Given the description of an element on the screen output the (x, y) to click on. 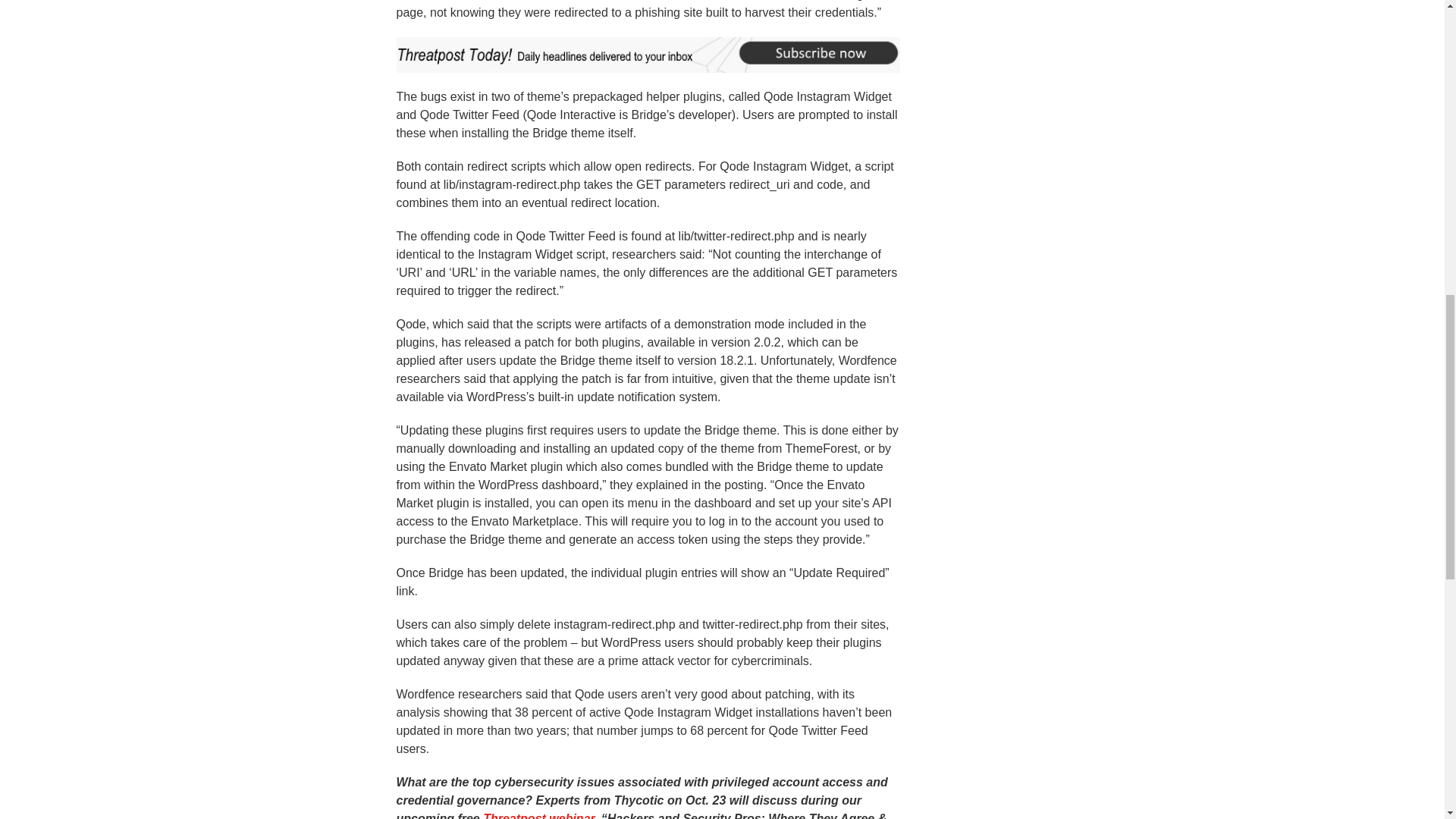
Threatpost webinar (538, 815)
